Given the description of an element on the screen output the (x, y) to click on. 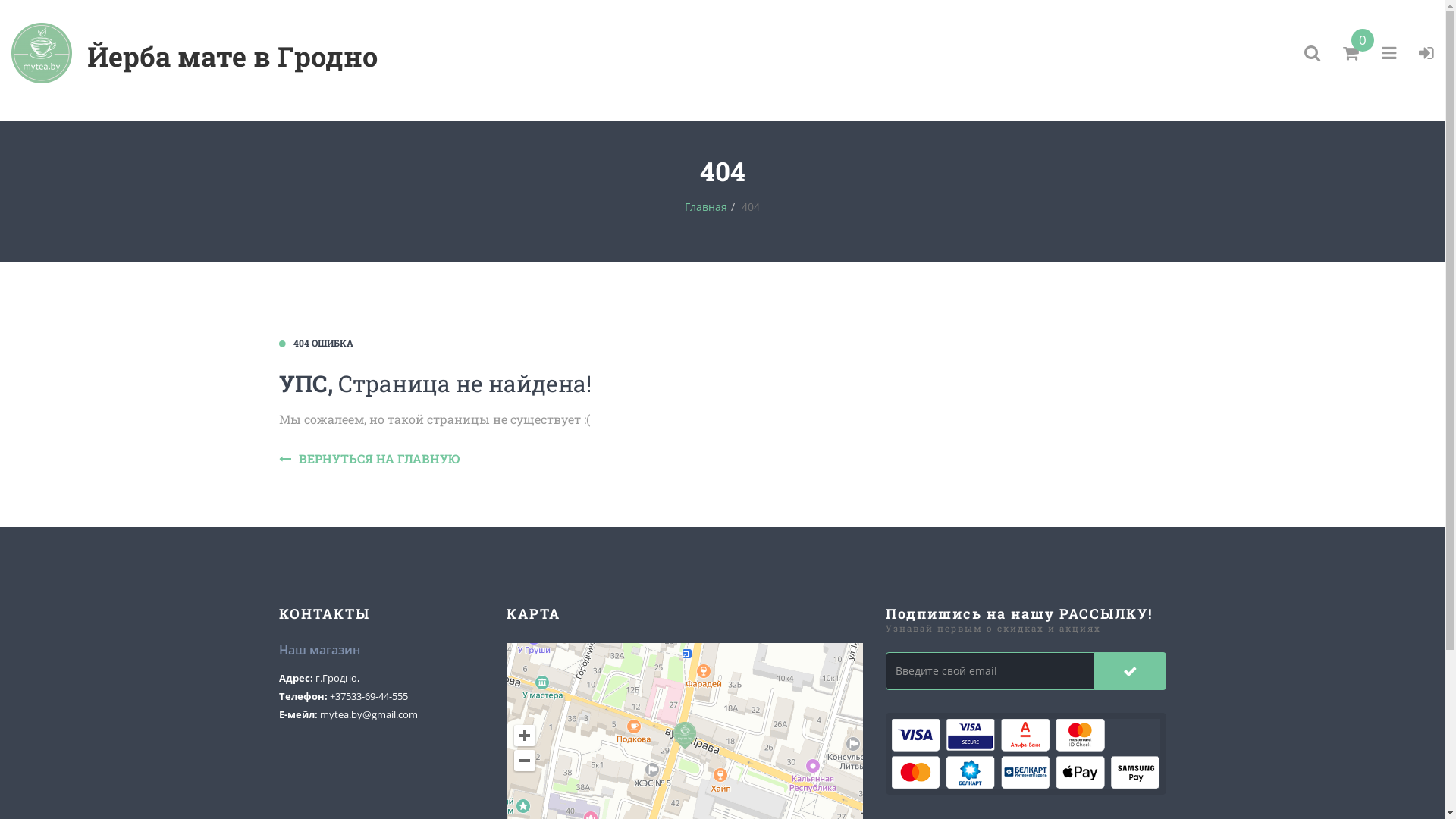
0 Element type: text (1350, 52)
